Given the description of an element on the screen output the (x, y) to click on. 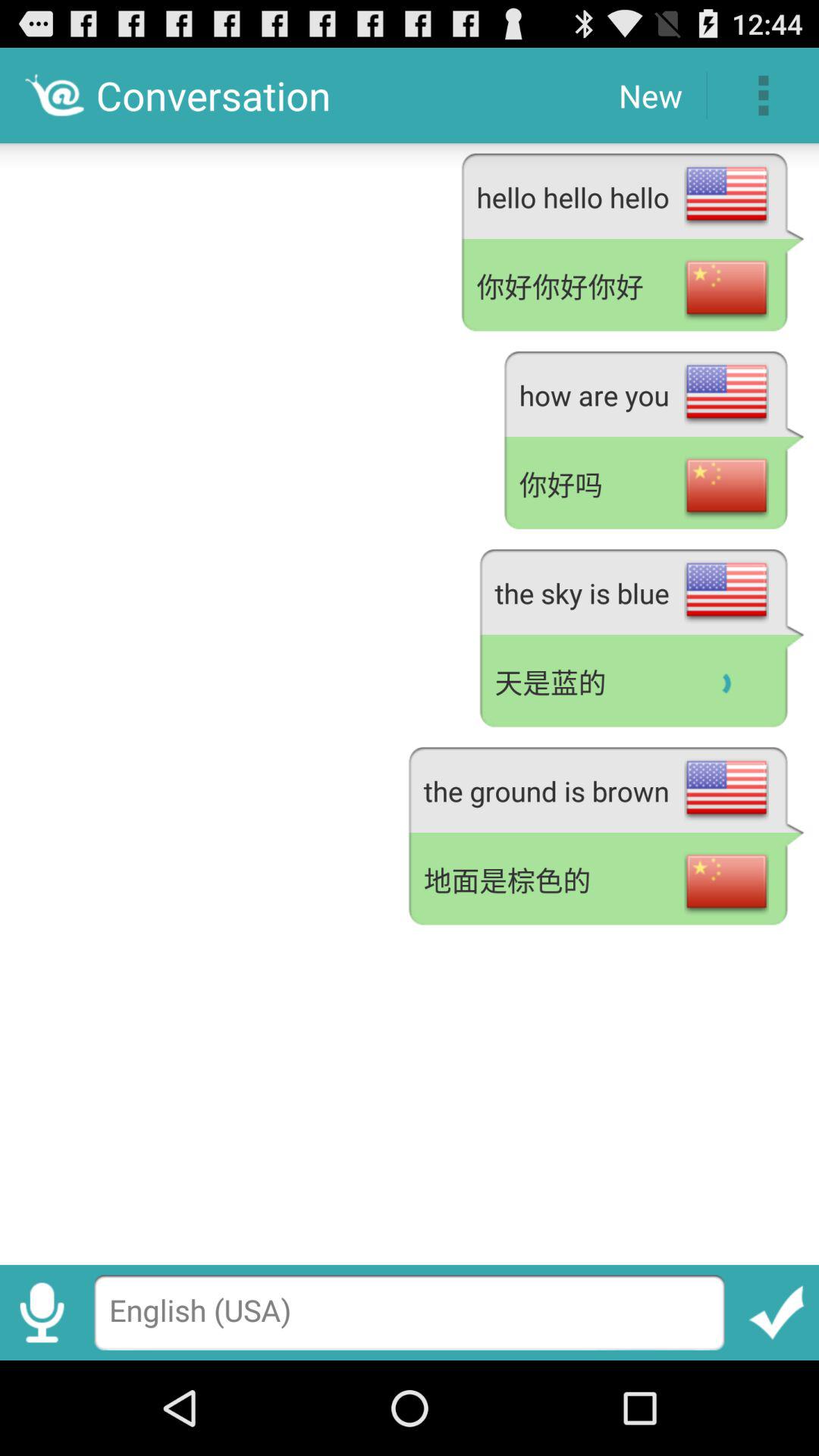
text box (409, 1312)
